Given the description of an element on the screen output the (x, y) to click on. 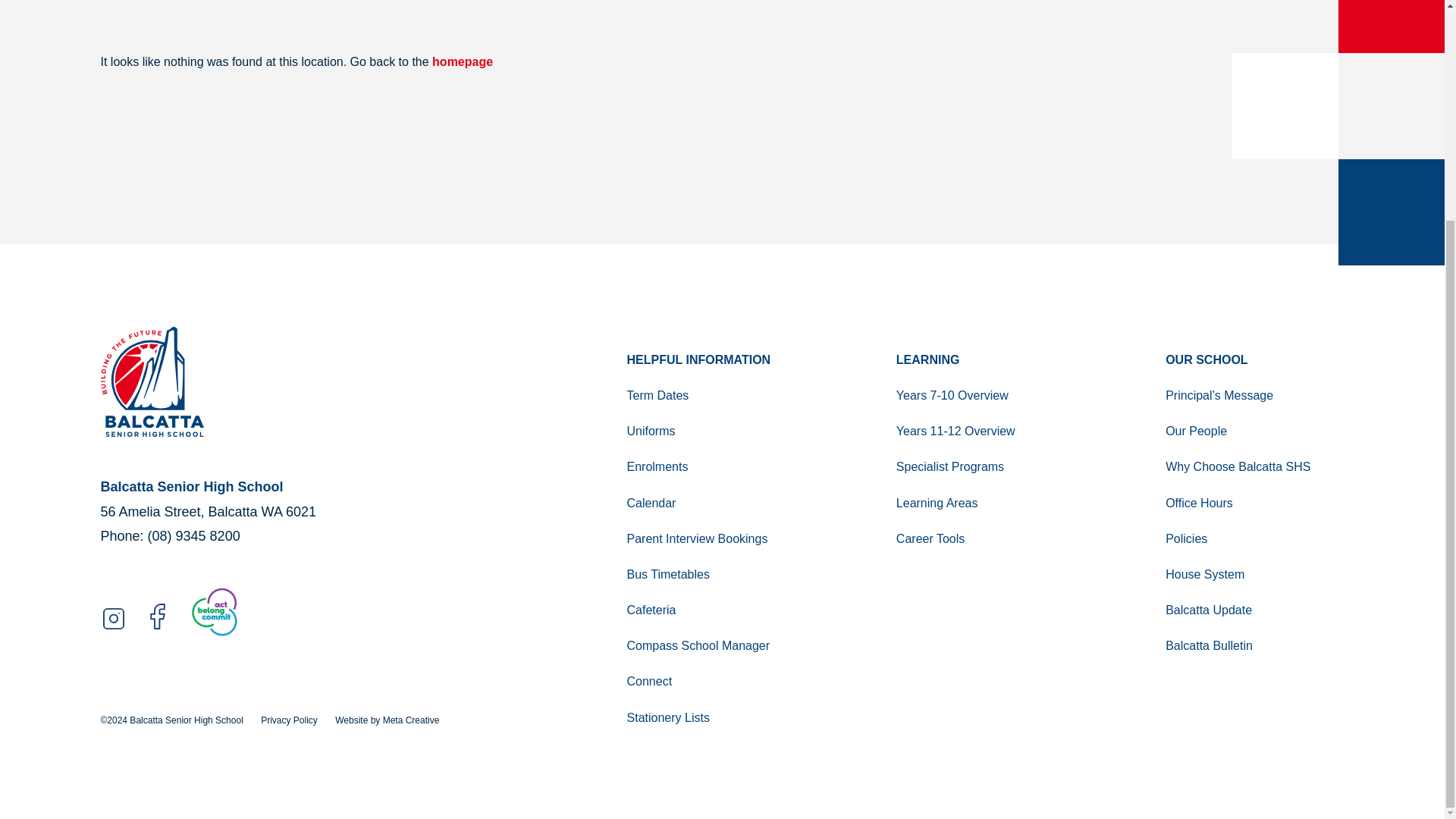
Years 7-10 Overview (985, 395)
Parent Interview Bookings (716, 538)
homepage (462, 61)
Cafeteria (716, 610)
Bus Timetables (716, 574)
Specialist Programs (985, 466)
Stationery Lists (716, 717)
HELPFUL INFORMATION (716, 359)
Term Dates (716, 395)
Learning Areas (985, 502)
Connect (716, 681)
Calendar (716, 502)
Years 11-12 Overview (985, 430)
Uniforms (716, 430)
Compass School Manager (716, 645)
